Given the description of an element on the screen output the (x, y) to click on. 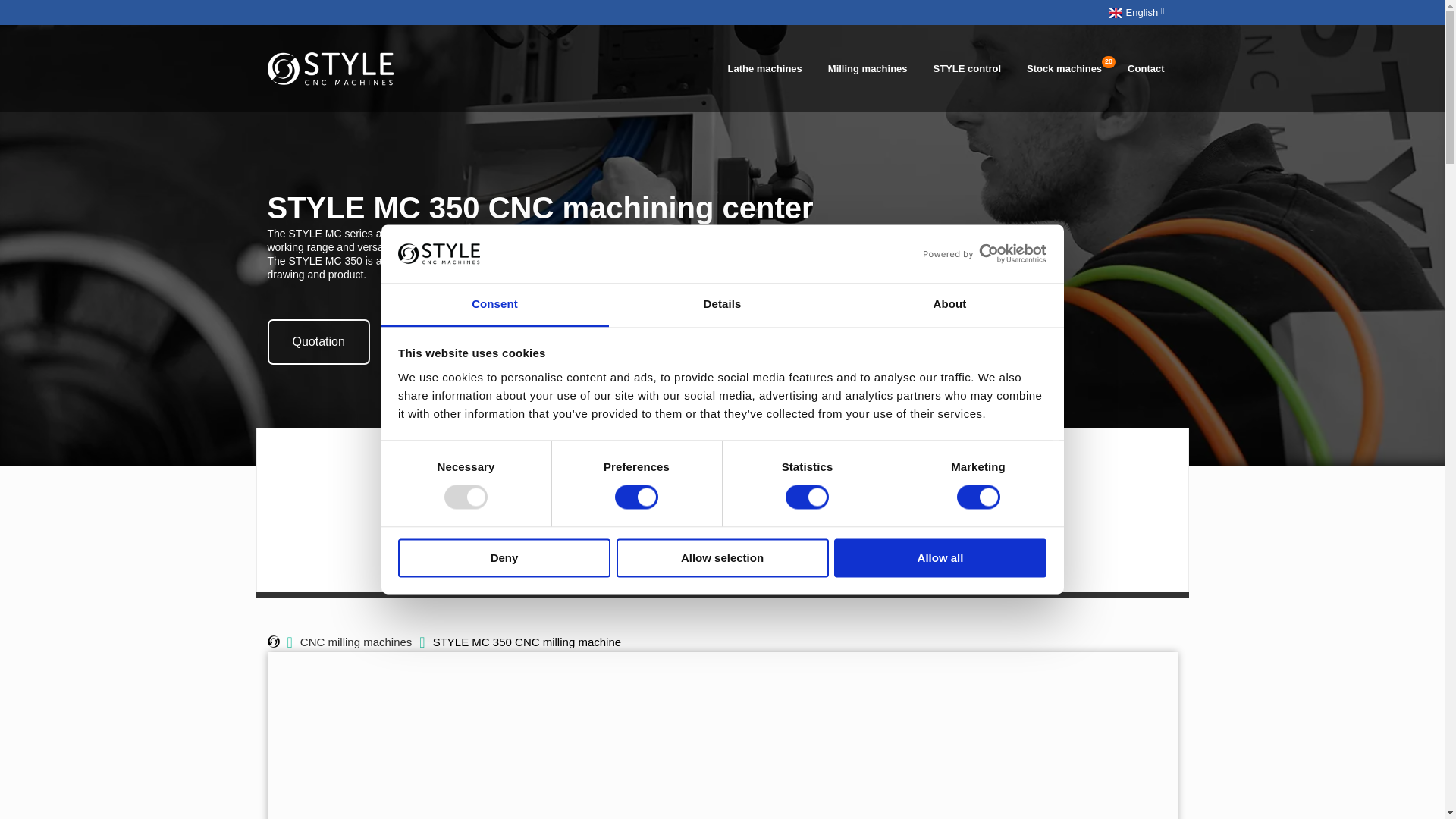
Consent (494, 304)
About (948, 304)
Details (721, 304)
